Given the description of an element on the screen output the (x, y) to click on. 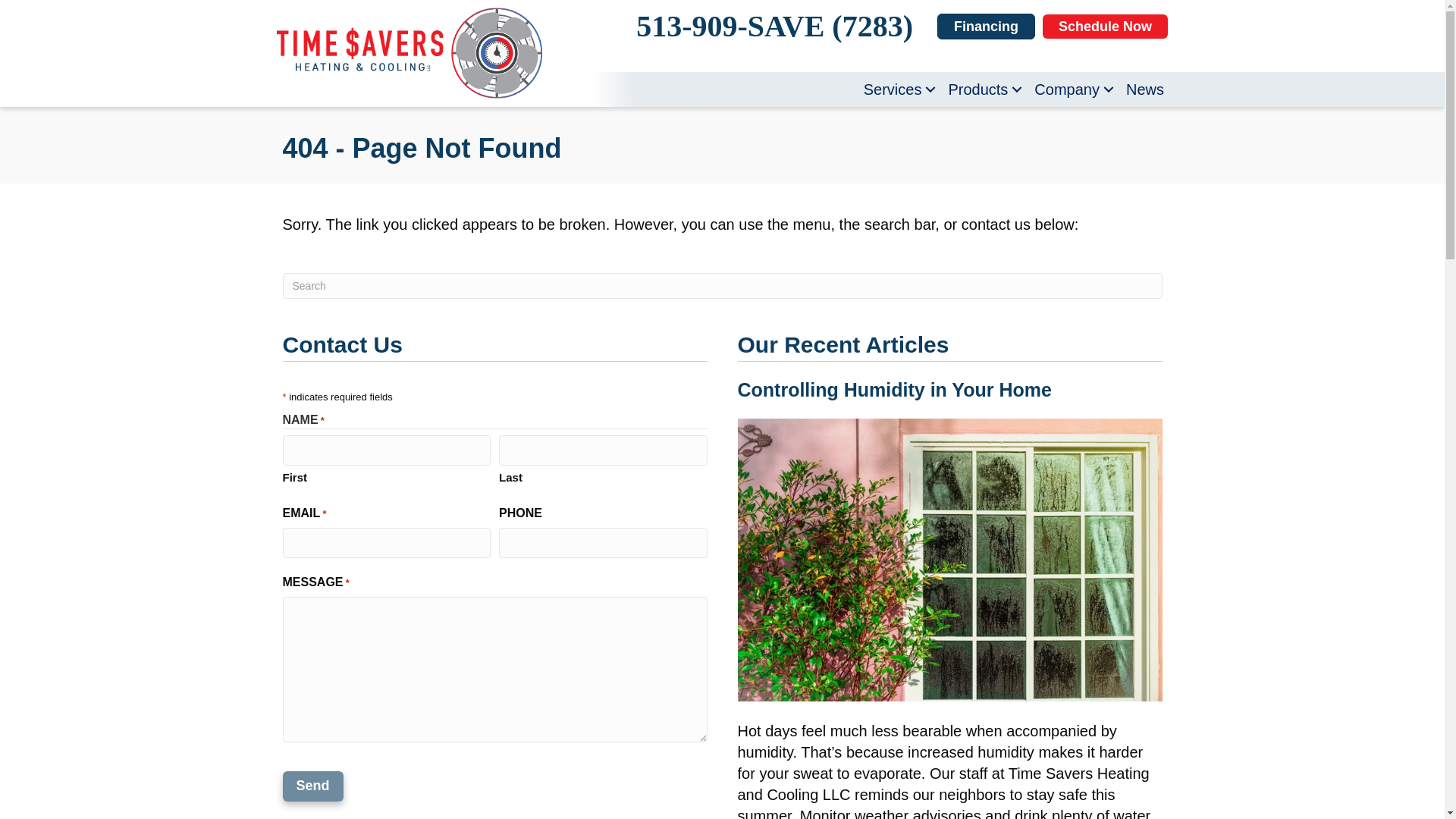
Products (983, 89)
Type and press Enter to search. (721, 285)
Services (898, 89)
Send (312, 786)
Financing (986, 26)
Schedule Now (1104, 26)
Company (1072, 89)
